Given the description of an element on the screen output the (x, y) to click on. 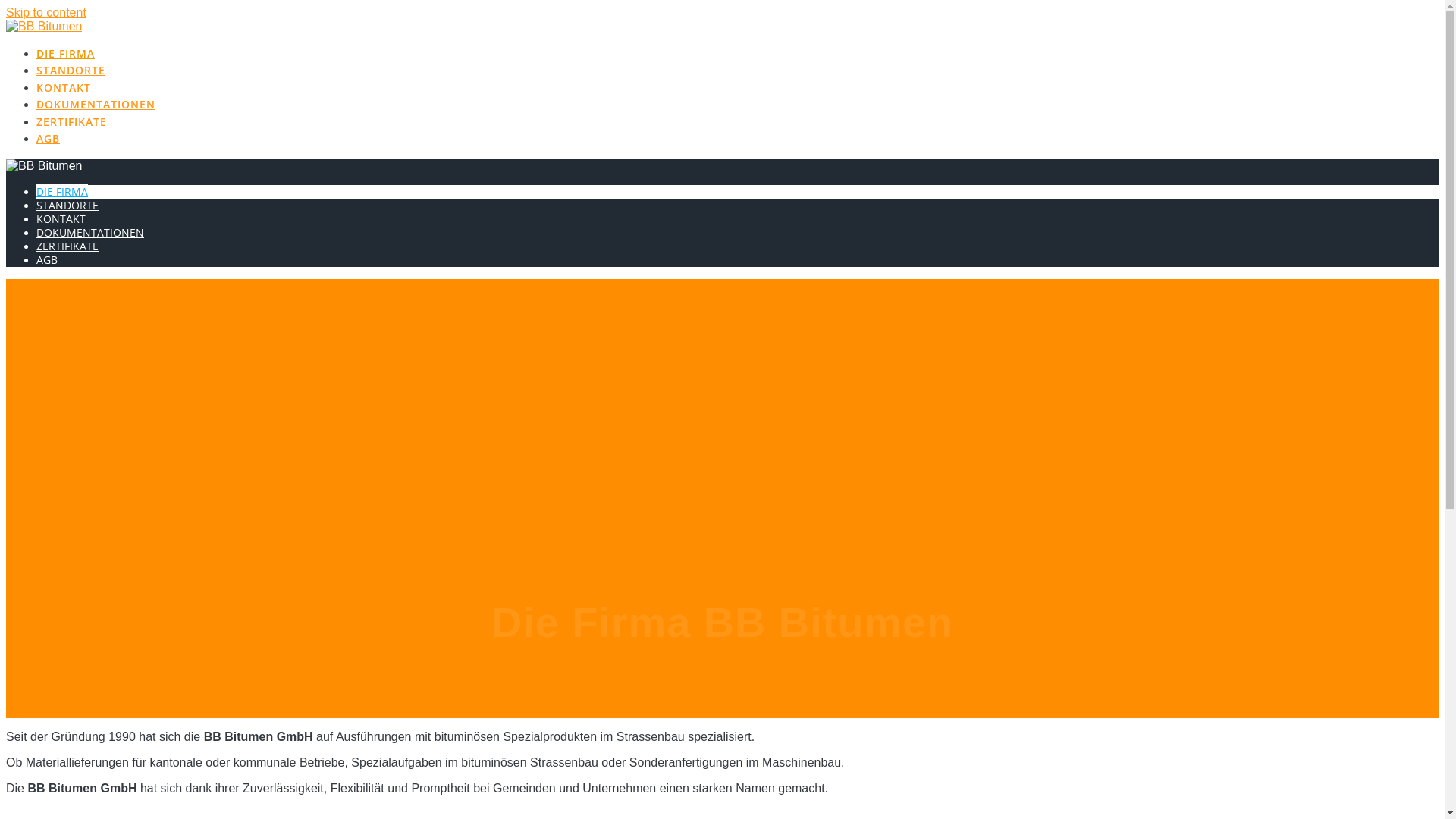
KONTAKT Element type: text (63, 87)
STANDORTE Element type: text (70, 69)
KONTAKT Element type: text (60, 218)
Skip to content Element type: text (46, 12)
AGB Element type: text (46, 259)
AGB Element type: text (47, 138)
DOKUMENTATIONEN Element type: text (95, 104)
DOKUMENTATIONEN Element type: text (90, 232)
DIE FIRMA Element type: text (61, 191)
ZERTIFIKATE Element type: text (67, 245)
STANDORTE Element type: text (67, 204)
DIE FIRMA Element type: text (65, 53)
ZERTIFIKATE Element type: text (71, 121)
